Given the description of an element on the screen output the (x, y) to click on. 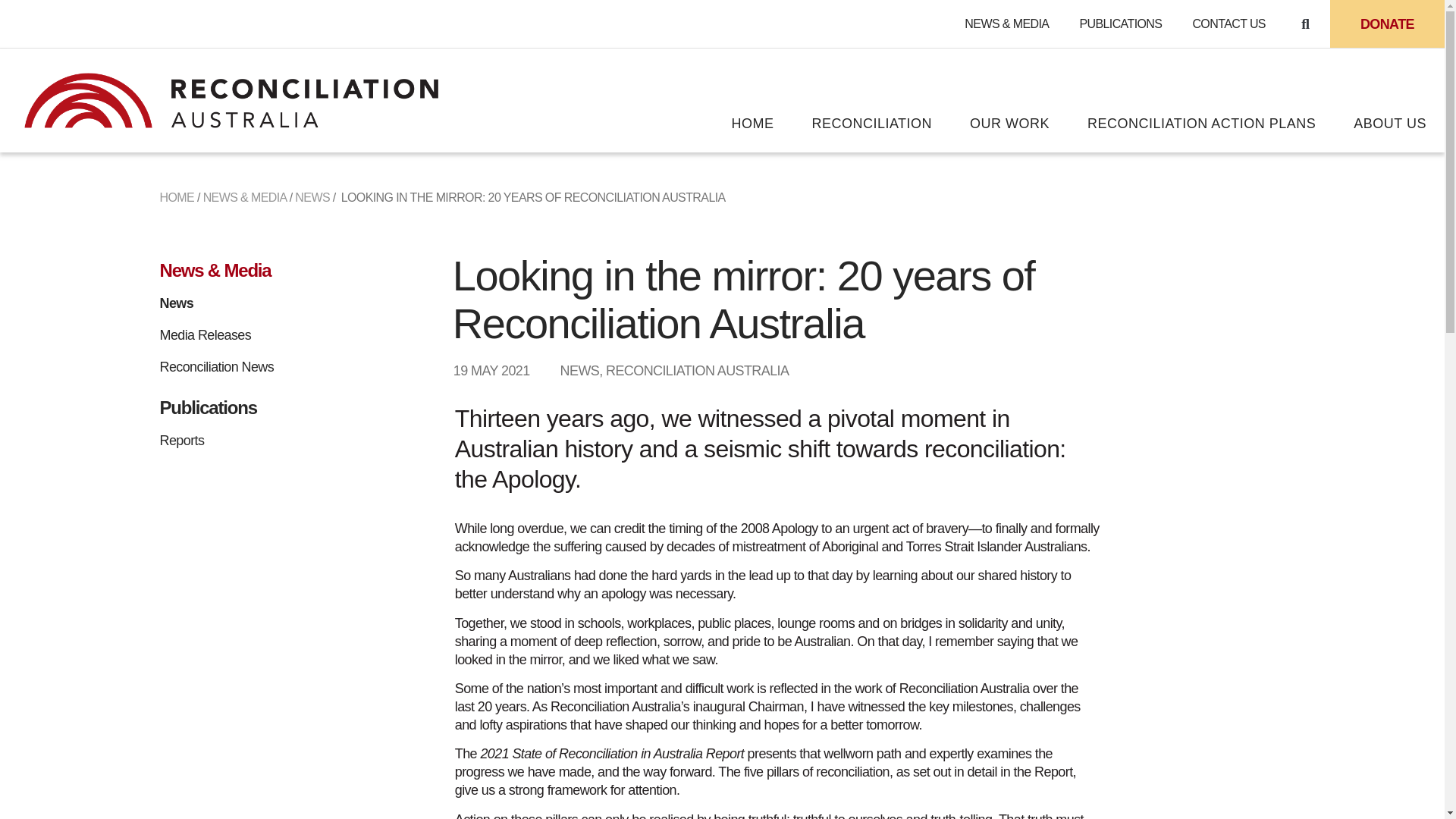
OUR WORK (1009, 123)
RECONCILIATION ACTION PLANS (1201, 123)
ABOUT US (1390, 123)
HOME (751, 123)
PUBLICATIONS (1120, 22)
RECONCILIATION (870, 123)
CONTACT US (1228, 22)
